Given the description of an element on the screen output the (x, y) to click on. 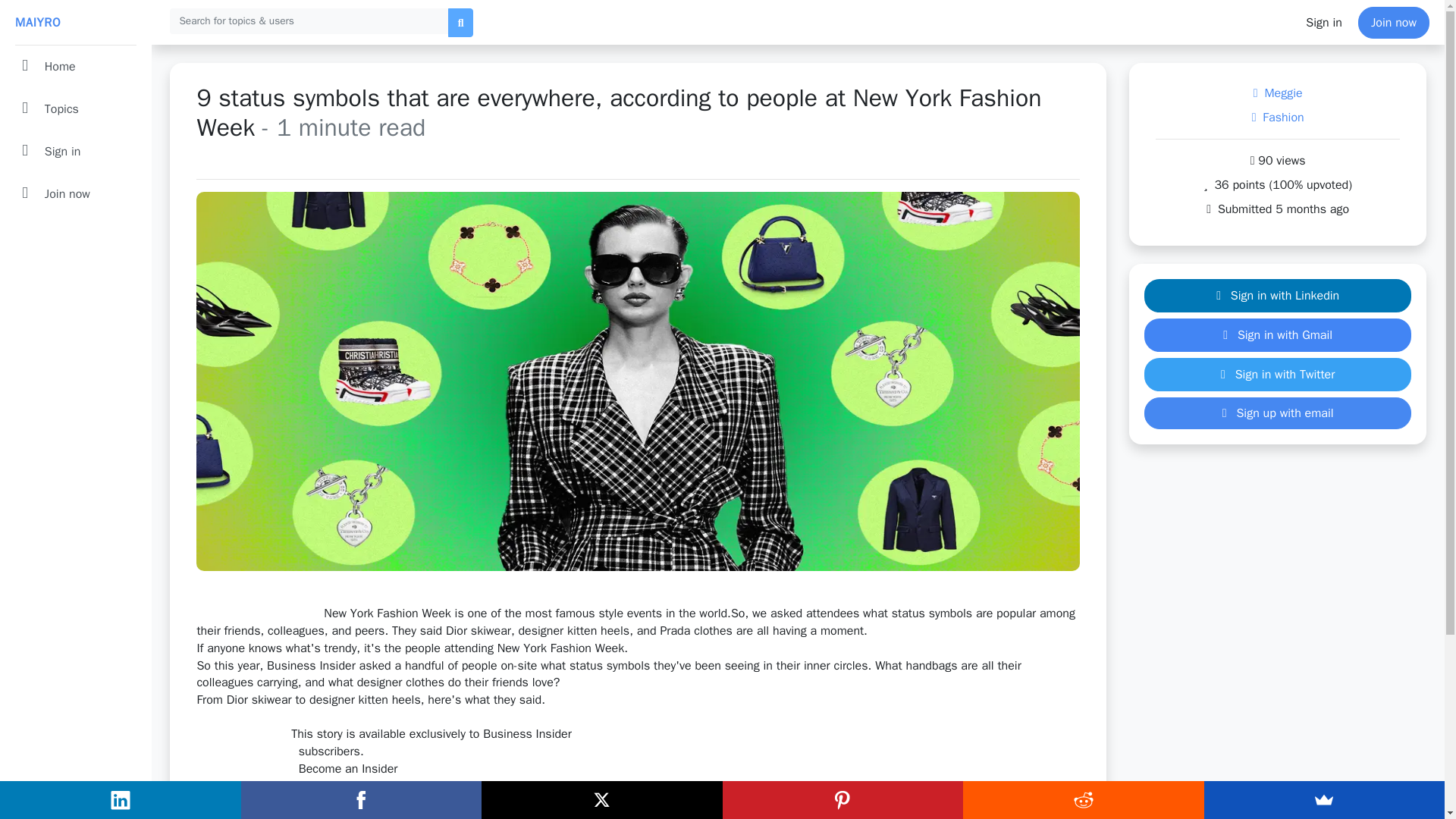
LinkedIn (120, 800)
Reddit (1083, 800)
Sign in with Twitter (1277, 374)
Facebook (361, 800)
Topics (75, 108)
Sign up with email (1277, 413)
Sign in (75, 151)
Pinterest (842, 800)
Fashion (1277, 117)
Home (75, 66)
Sign in (1323, 22)
MAIYRO (75, 22)
Sign in with Gmail (1277, 335)
X (601, 800)
Join now (75, 193)
